Given the description of an element on the screen output the (x, y) to click on. 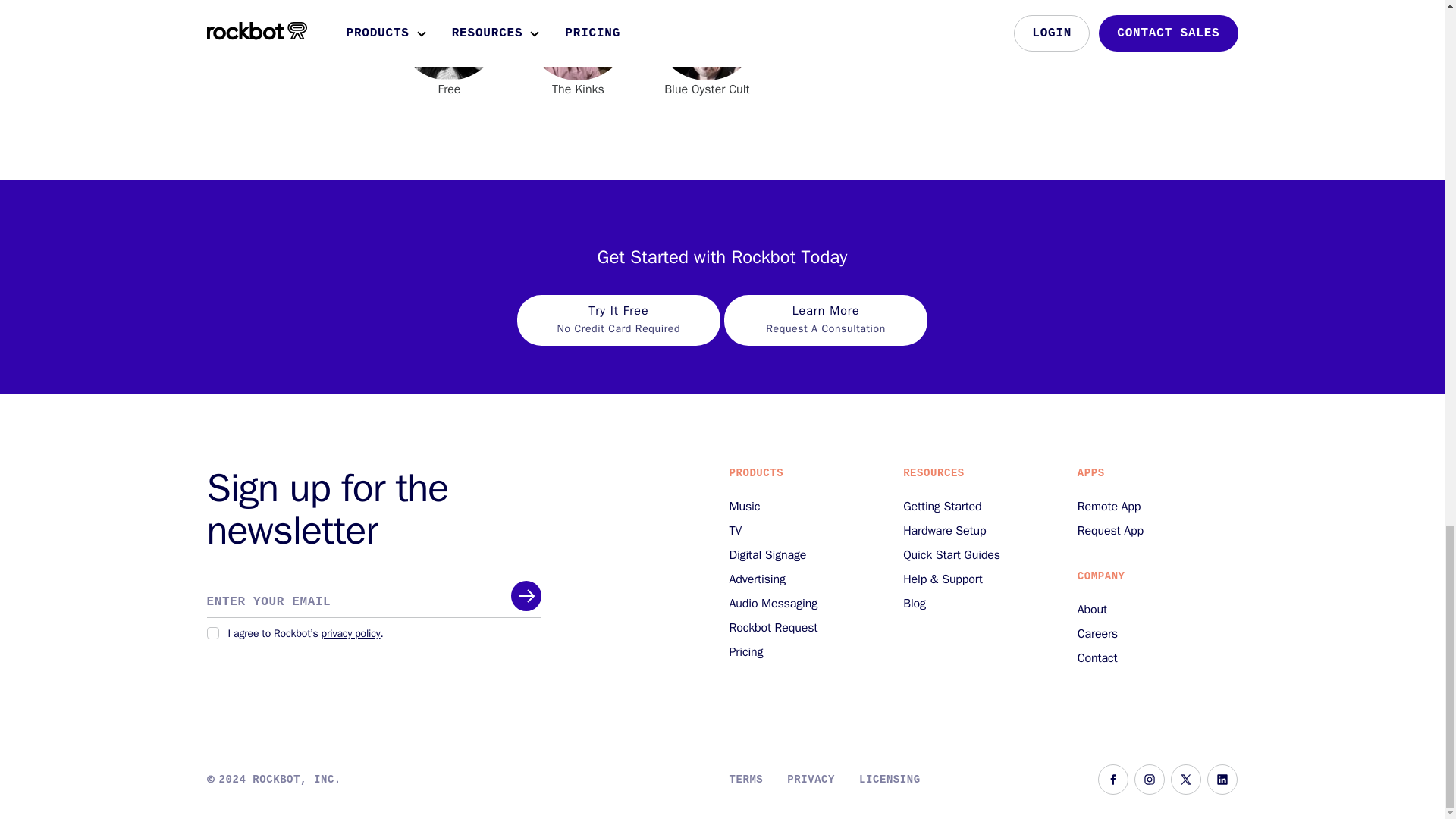
true (212, 633)
Submit (618, 336)
